Given the description of an element on the screen output the (x, y) to click on. 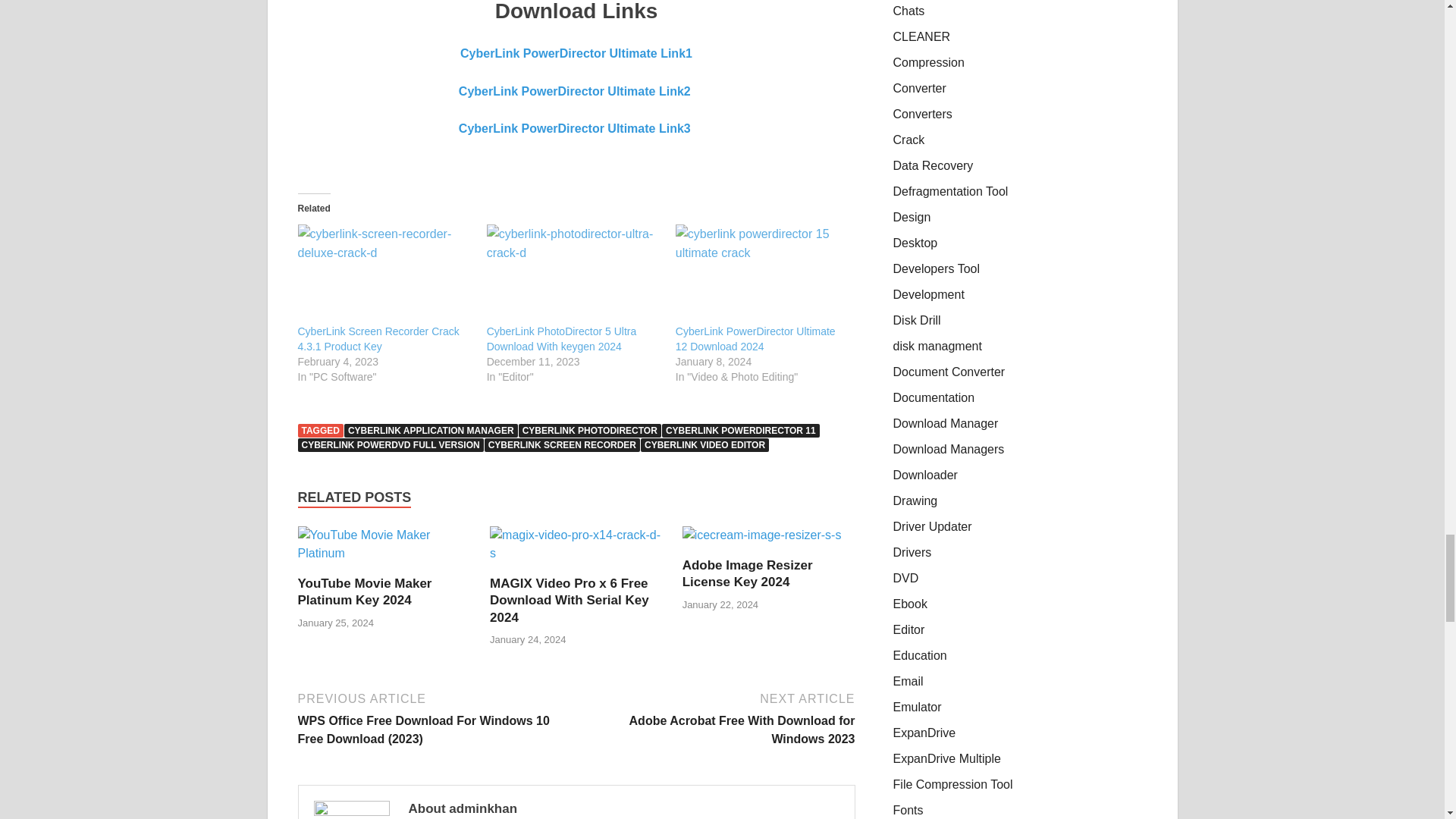
CyberLink PhotoDirector 5 Ultra Download With keygen 2024 (573, 273)
CyberLink Screen Recorder Crack 4.3.1 Product Key (377, 338)
CyberLink PowerDirector Ultimate 12 Download 2024 (761, 273)
CyberLink Screen Recorder Crack 4.3.1 Product Key (383, 273)
CyberLink PowerDirector Ultimate Link2  (576, 91)
CyberLink PowerDirector Ultimate Link1 (576, 52)
CyberLink PhotoDirector 5 Ultra Download With keygen 2024 (561, 338)
CyberLink PowerDirector Ultimate Link3  (576, 128)
CyberLink PowerDirector Ultimate 12 Download 2024 (755, 338)
